Given the description of an element on the screen output the (x, y) to click on. 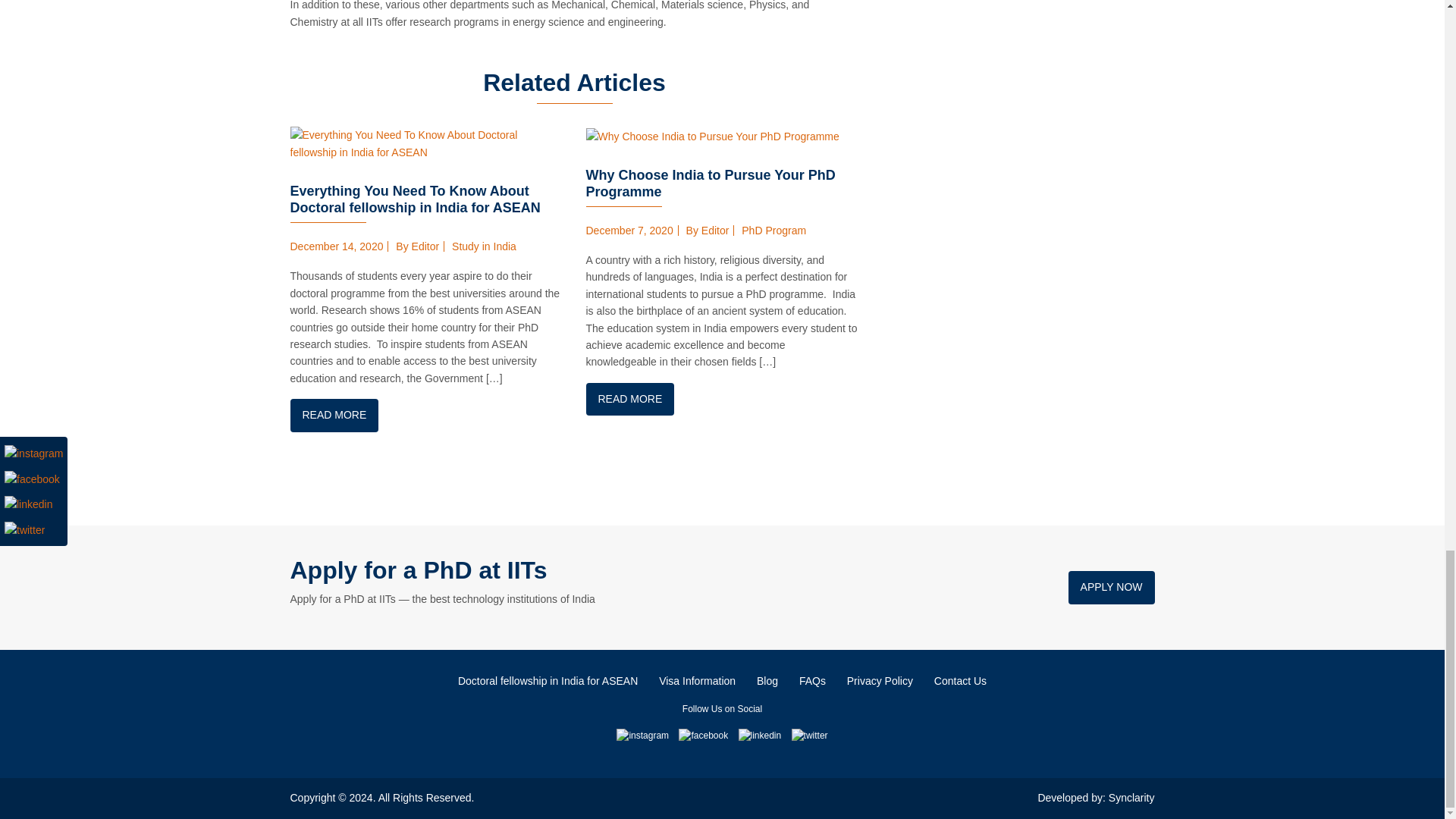
Study in India (483, 246)
By Editor (707, 230)
PhD Program (773, 230)
READ MORE (629, 399)
READ MORE (333, 414)
Why Choose India to Pursue Your PhD Programme (709, 183)
December 7, 2020 (628, 230)
By Editor (417, 246)
December 14, 2020 (335, 246)
